Given the description of an element on the screen output the (x, y) to click on. 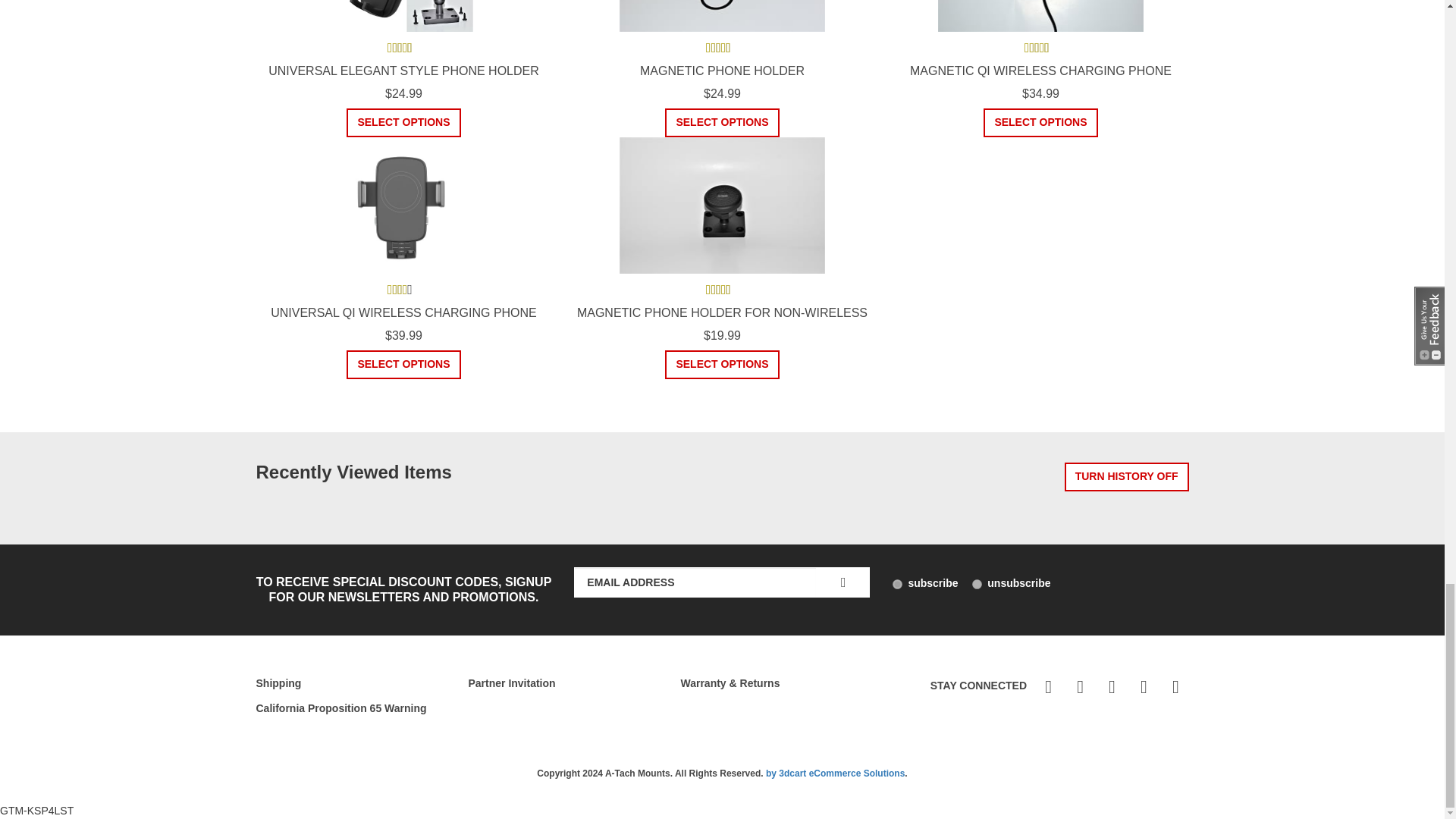
1 (897, 583)
Follow Us on Instagram (1173, 686)
Follow Us on Pinterest (1078, 686)
Like Us on Facebook (1046, 686)
Subscribe to our Channel (1142, 686)
Follow Us on Twitter (1110, 686)
0 (976, 583)
